Given the description of an element on the screen output the (x, y) to click on. 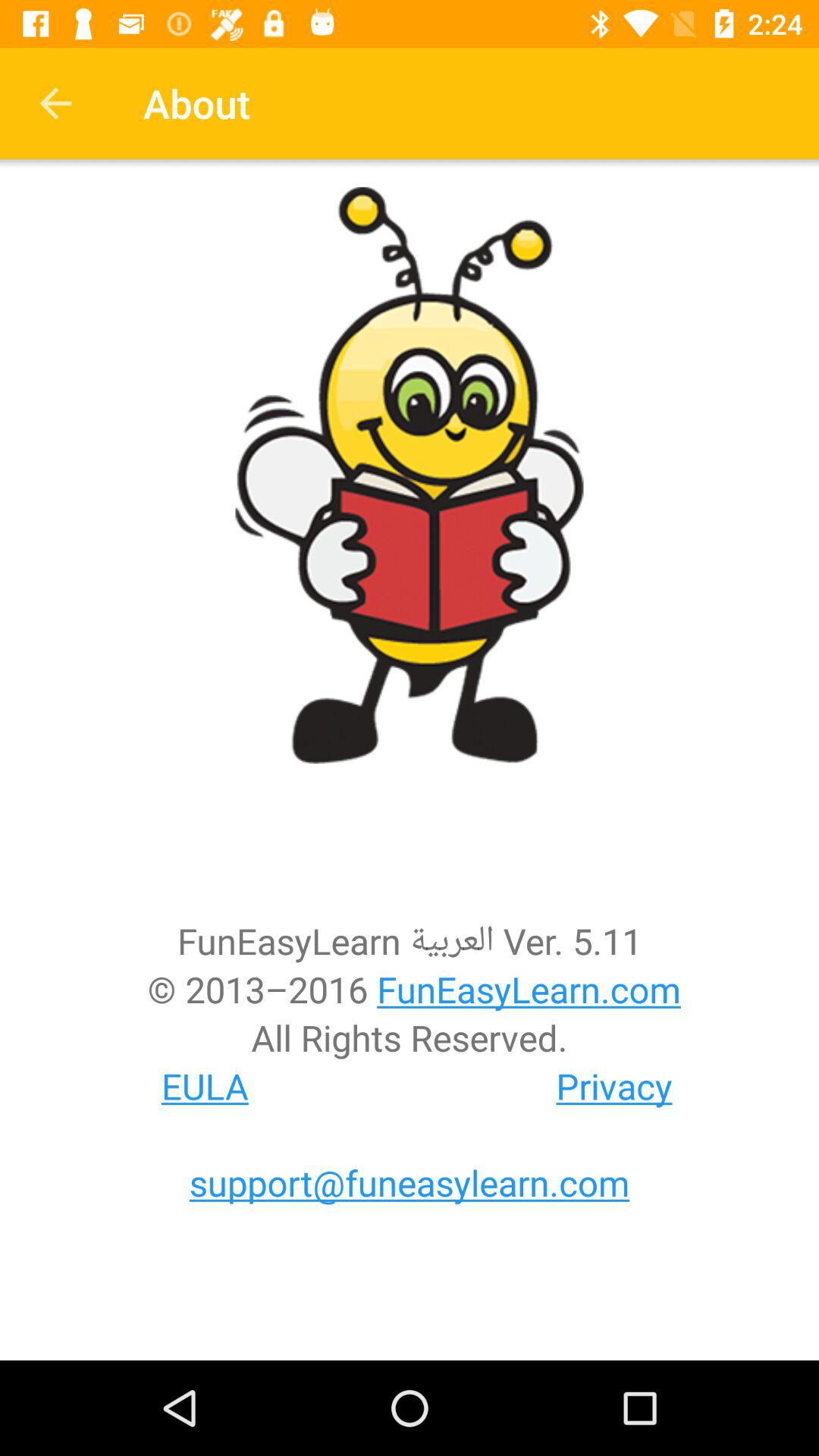
turn off 2013 2016 funeasylearn (409, 989)
